Given the description of an element on the screen output the (x, y) to click on. 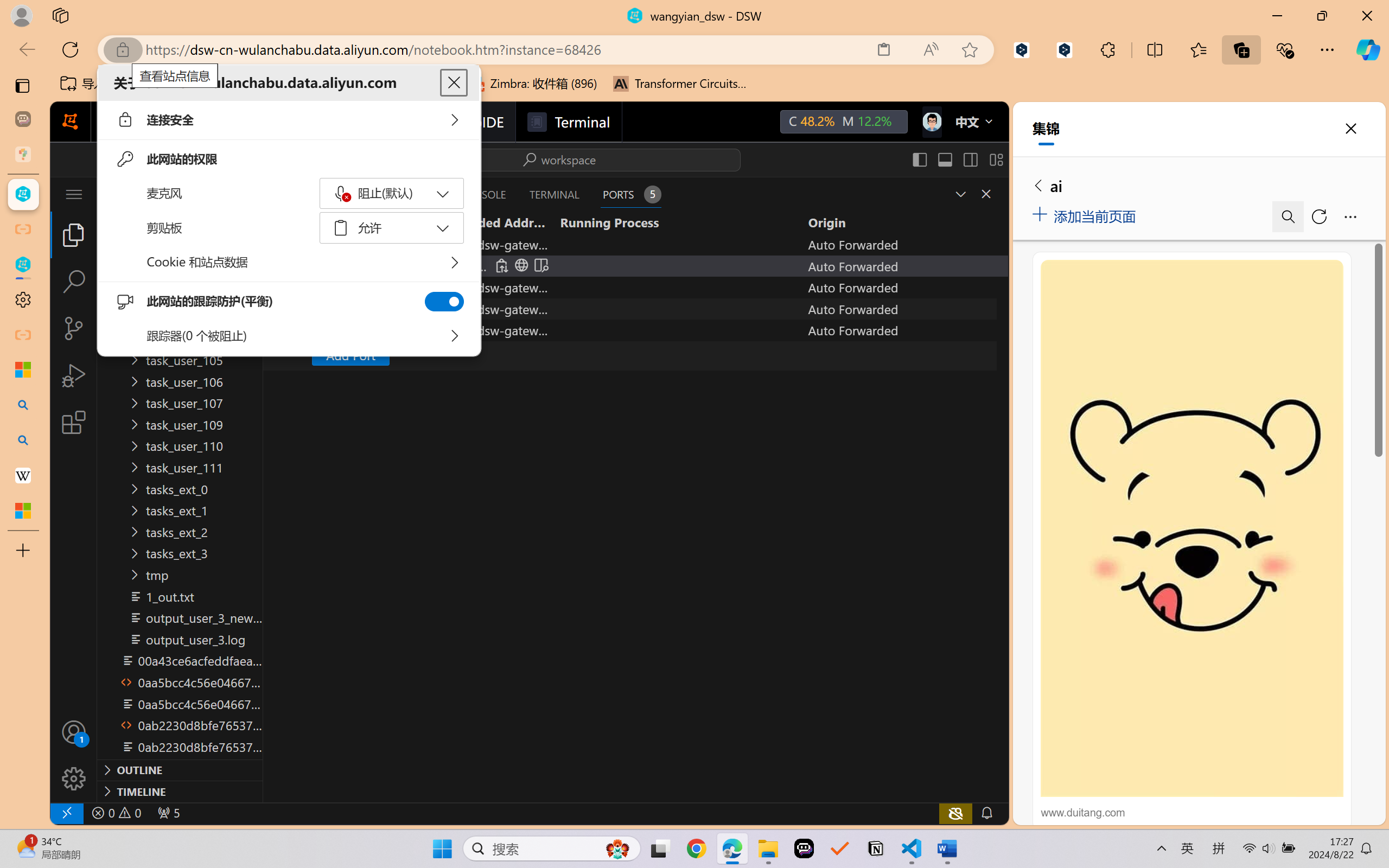
wangyian_dsw - DSW (22, 194)
Transformer Circuits Thread (680, 83)
Outline Section (179, 769)
icon (930, 121)
Preview in Editor (540, 265)
Google Chrome (696, 848)
Close Panel (986, 193)
Toggle Secondary Side Bar (Ctrl+Alt+B) (969, 159)
